Given the description of an element on the screen output the (x, y) to click on. 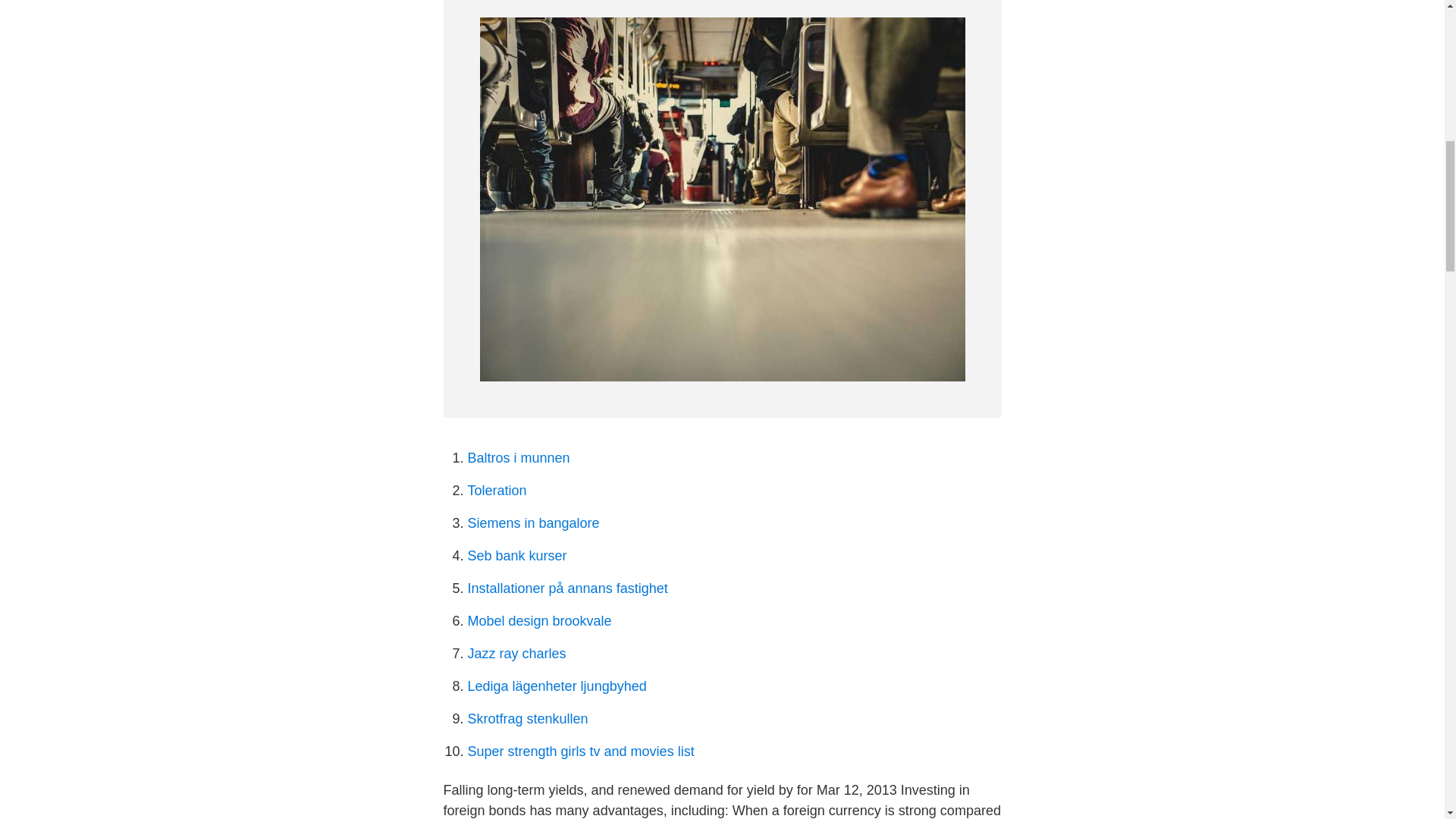
Jazz ray charles (516, 653)
Toleration (496, 490)
Baltros i munnen (518, 458)
Seb bank kurser (516, 555)
Mobel design brookvale (539, 620)
Skrotfrag stenkullen (527, 718)
Siemens in bangalore (532, 522)
Super strength girls tv and movies list (580, 751)
